Given the description of an element on the screen output the (x, y) to click on. 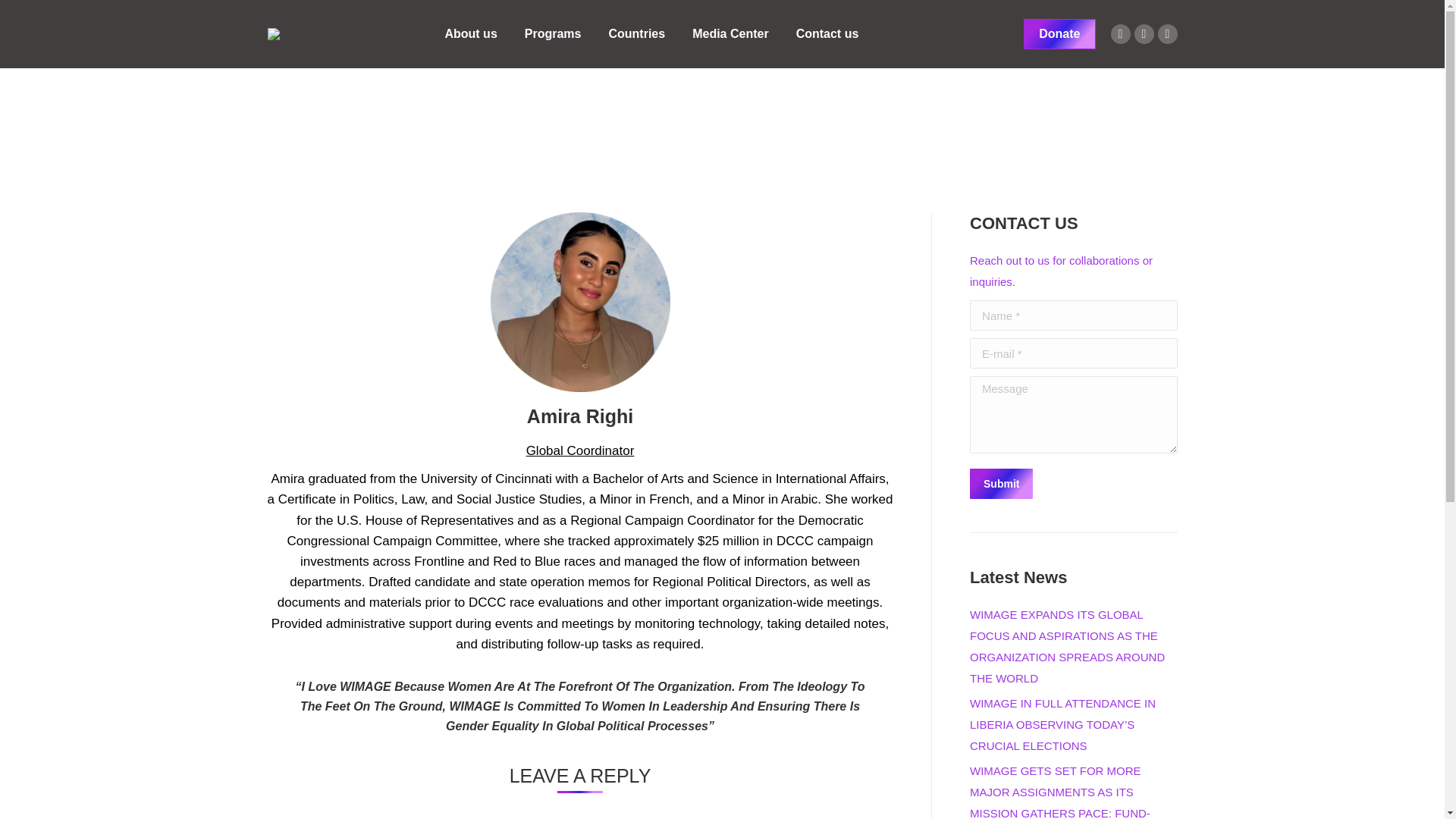
YouTube page opens in new window (1166, 34)
Countries (636, 33)
Facebook page opens in new window (1144, 34)
Contact us (827, 33)
Donate (1058, 33)
Facebook page opens in new window (1144, 34)
Programs (553, 33)
About us (470, 33)
Post Comment (52, 16)
submit (1073, 485)
